Given the description of an element on the screen output the (x, y) to click on. 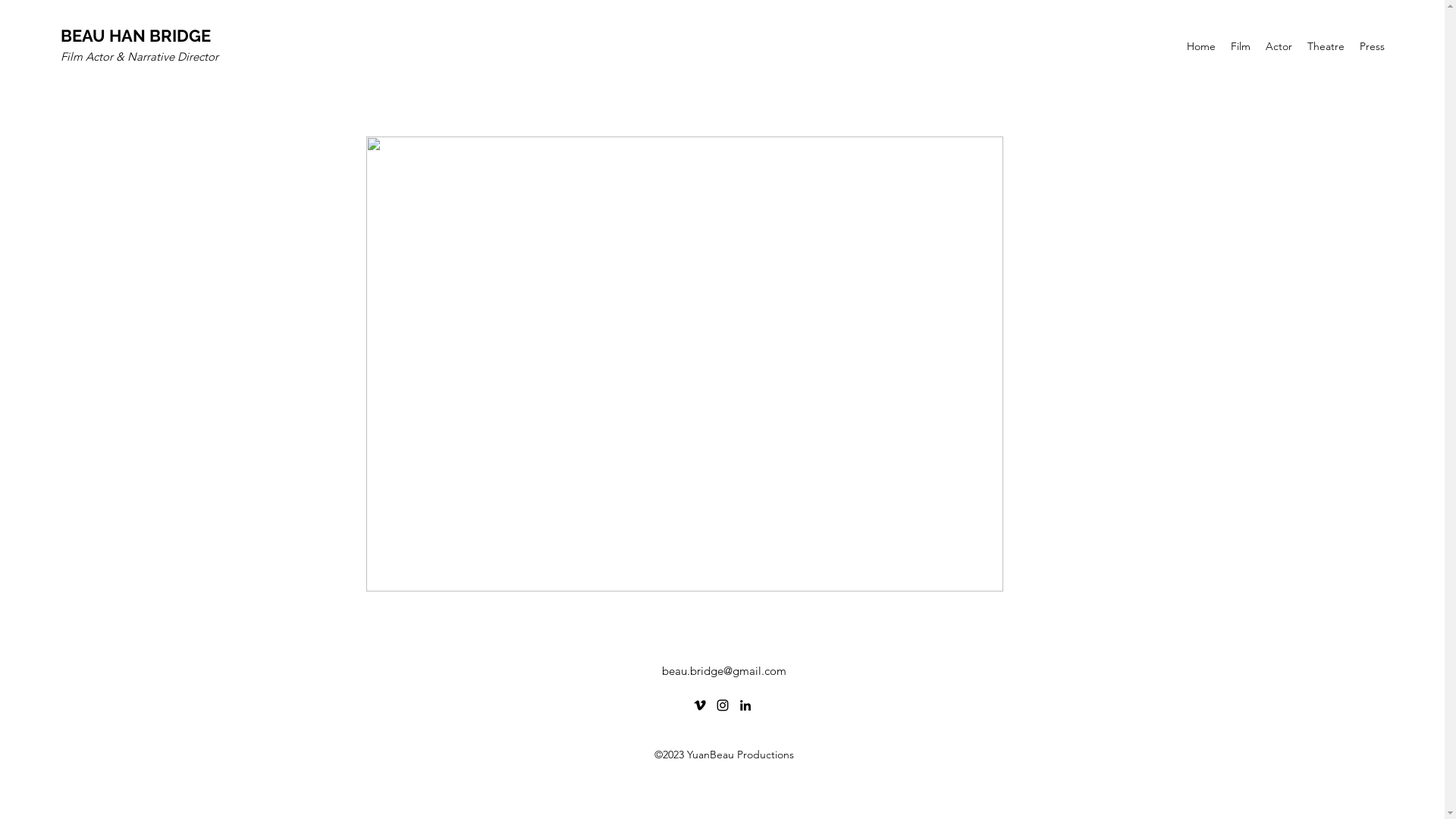
beau.bridge@gmail.com Element type: text (723, 670)
Theatre Element type: text (1325, 45)
Press Element type: text (1372, 45)
Home Element type: text (1201, 45)
Actor Element type: text (1278, 45)
Film Element type: text (1240, 45)
